Given the description of an element on the screen output the (x, y) to click on. 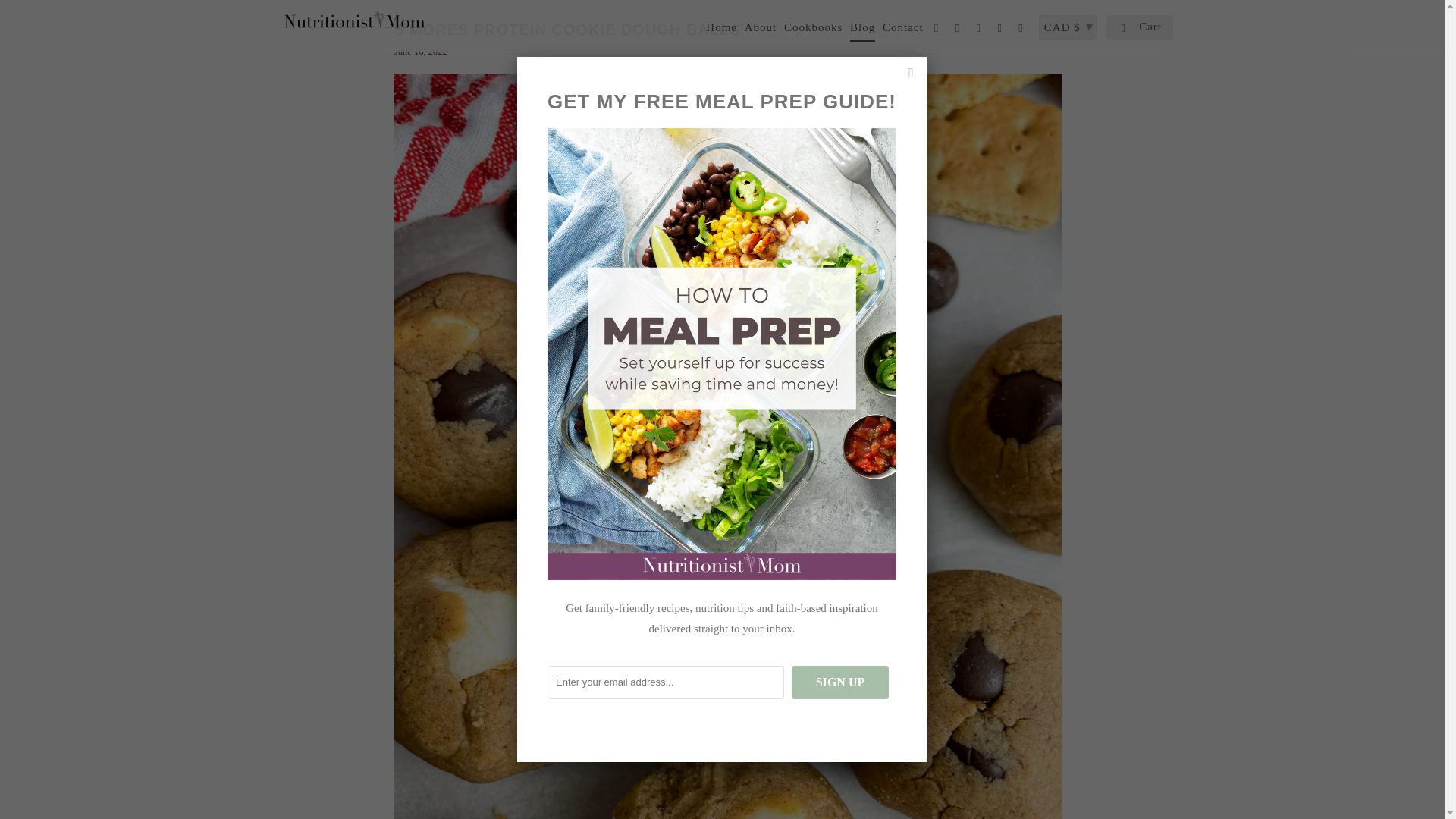
Sign Up (840, 682)
